Given the description of an element on the screen output the (x, y) to click on. 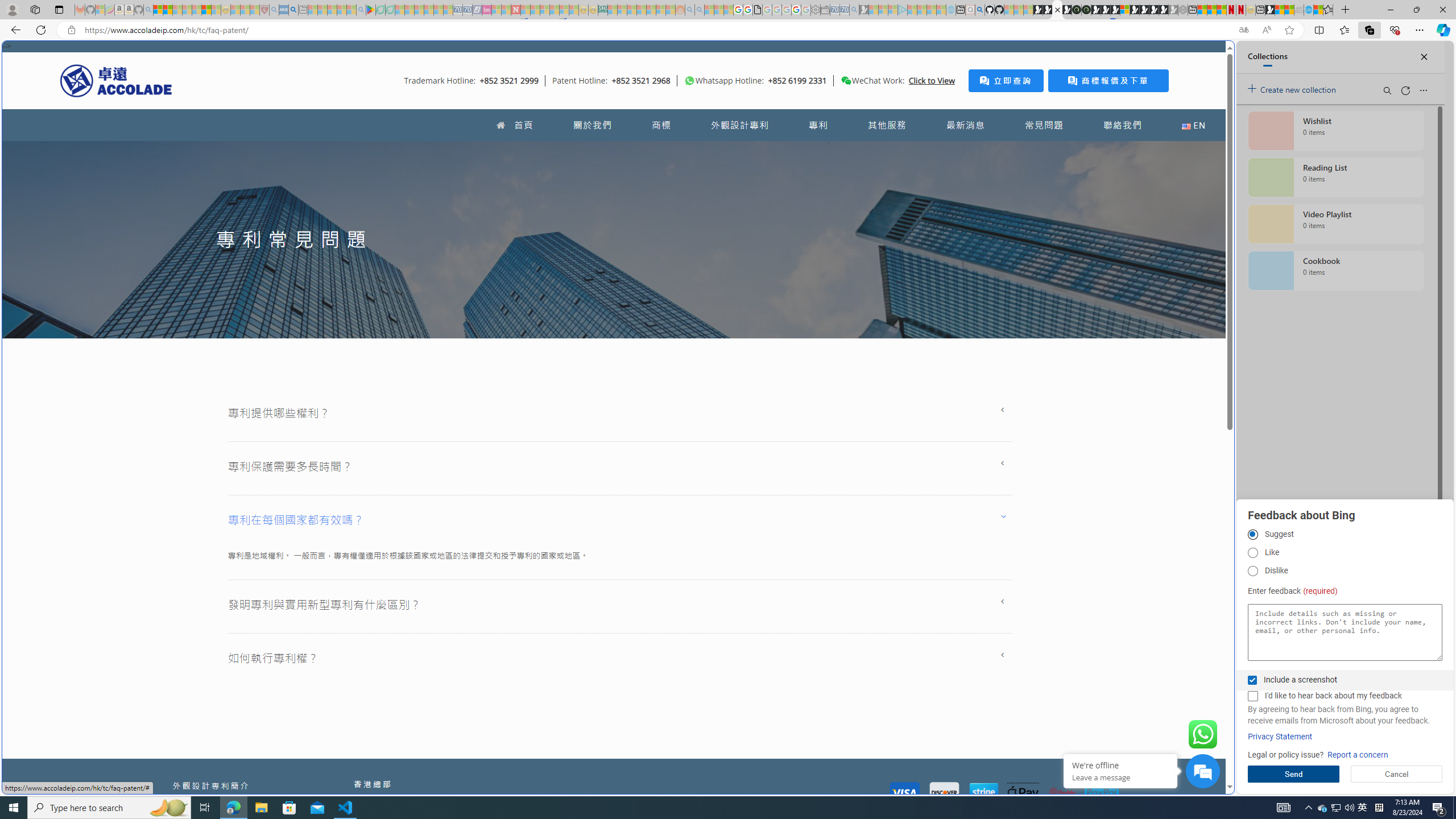
google - Search - Sleeping (360, 9)
EN (1193, 124)
I'd like to hear back about my feedback (1252, 696)
Pets - MSN - Sleeping (340, 9)
